Given the description of an element on the screen output the (x, y) to click on. 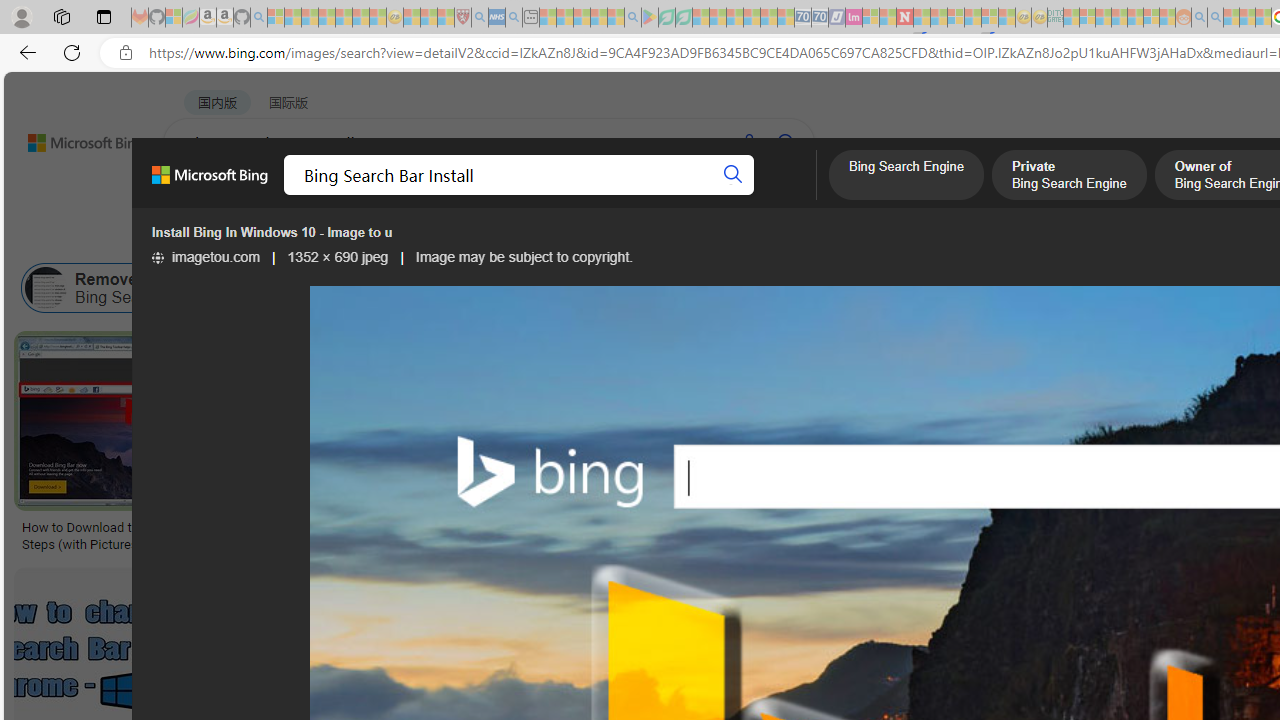
Install Bing (594, 287)
Bing Web Search Bar (298, 287)
Image may be subject to copyright. (523, 257)
Image size (222, 237)
License (665, 237)
